Given the description of an element on the screen output the (x, y) to click on. 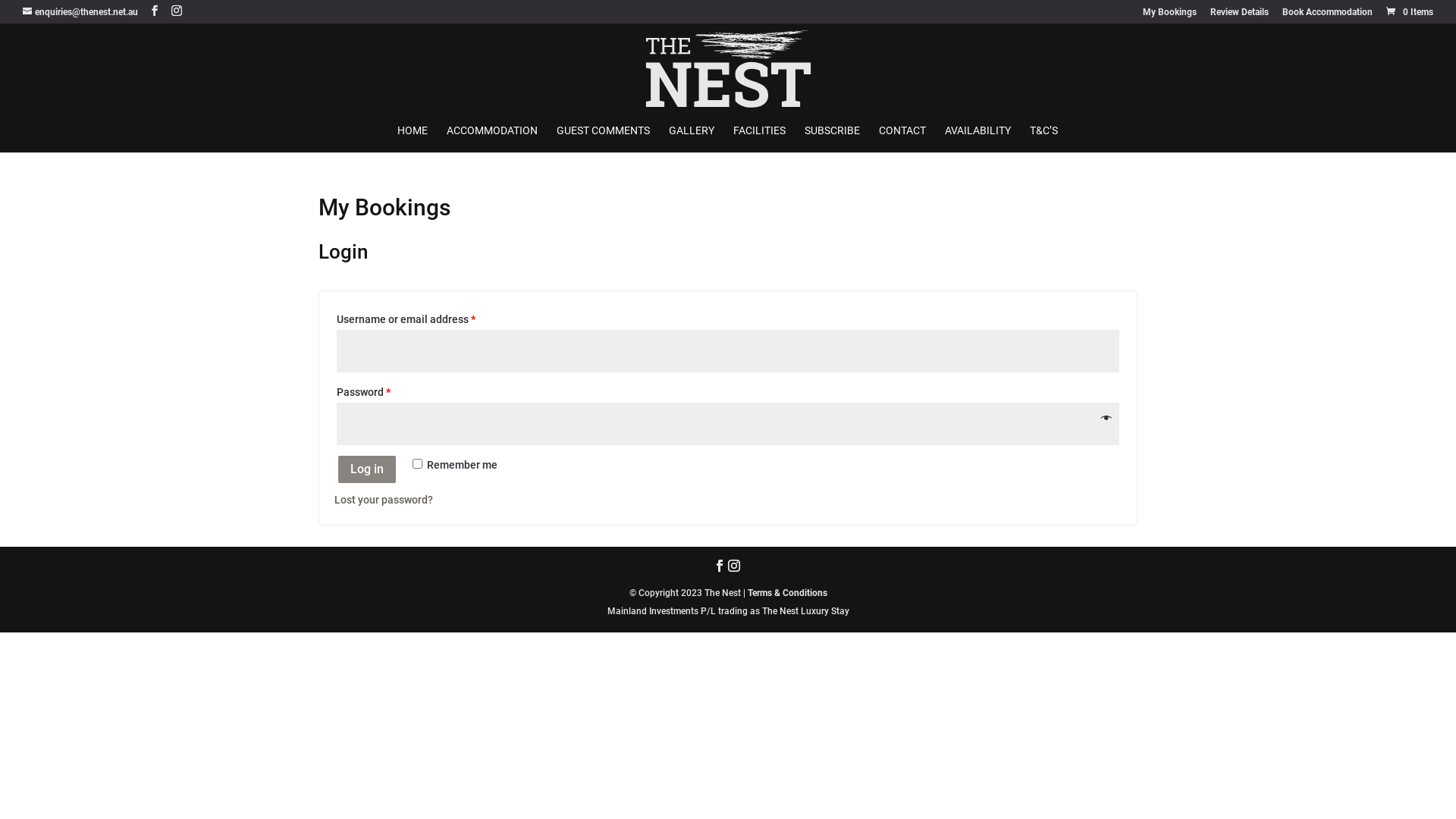
enquiries@thenest.net.au Element type: text (80, 11)
AVAILABILITY Element type: text (977, 138)
GALLERY Element type: text (691, 138)
SUBSCRIBE Element type: text (831, 138)
Review Details Element type: text (1239, 15)
ACCOMMODATION Element type: text (490, 138)
Log in Element type: text (366, 469)
Book Accommodation Element type: text (1327, 15)
GUEST COMMENTS Element type: text (602, 138)
My Bookings Element type: text (1169, 15)
Terms & Conditions Element type: text (787, 592)
0 Items Element type: text (1408, 11)
HOME Element type: text (412, 138)
FACILITIES Element type: text (758, 138)
Lost your password? Element type: text (383, 499)
CONTACT Element type: text (901, 138)
